Given the description of an element on the screen output the (x, y) to click on. 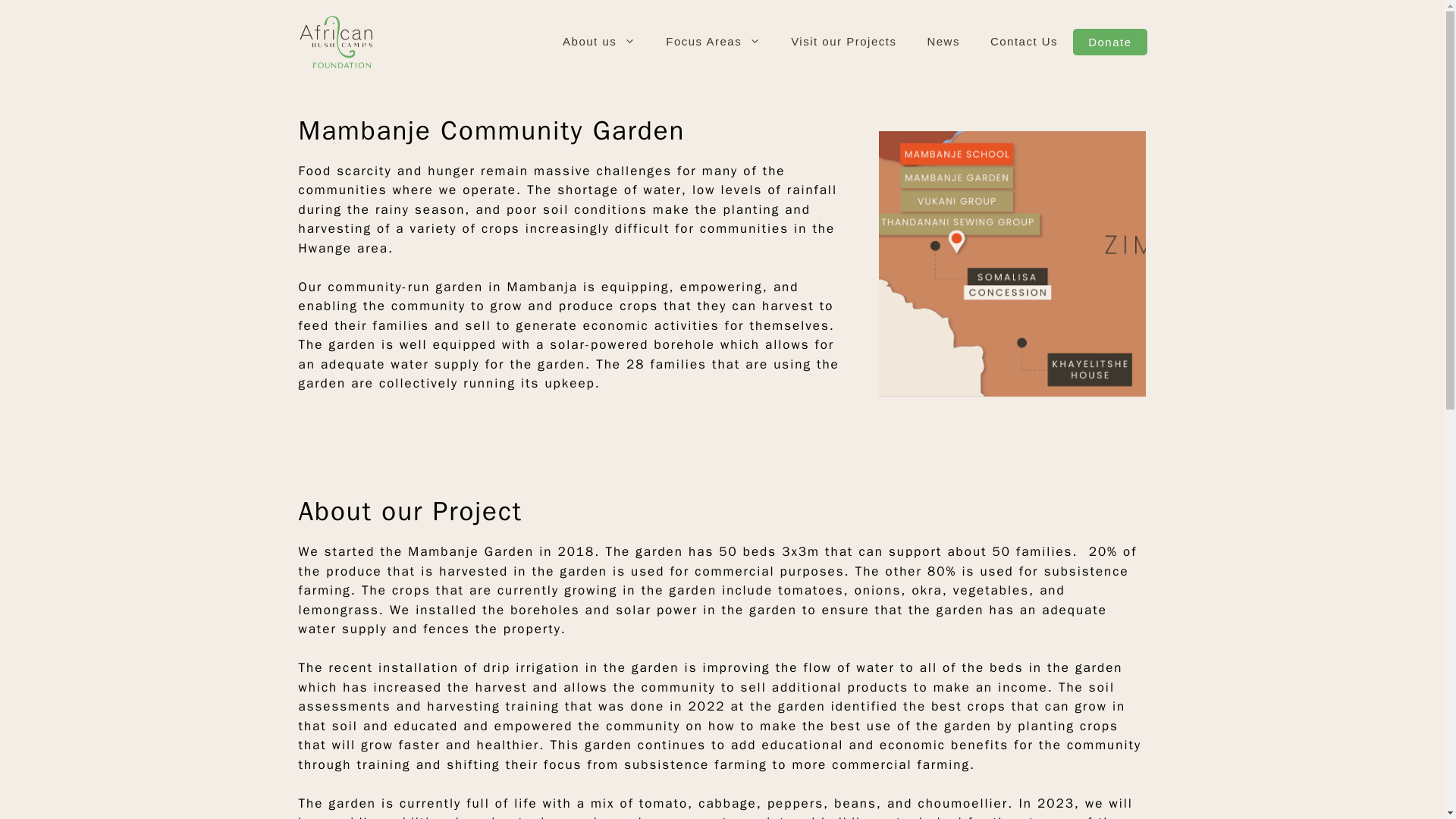
About us (598, 41)
THANDANANI-SEWING-GROUP-1 (1013, 263)
News (943, 41)
Contact Us (1024, 41)
Donate (1110, 41)
Focus Areas (713, 41)
Visit our Projects (843, 41)
